Given the description of an element on the screen output the (x, y) to click on. 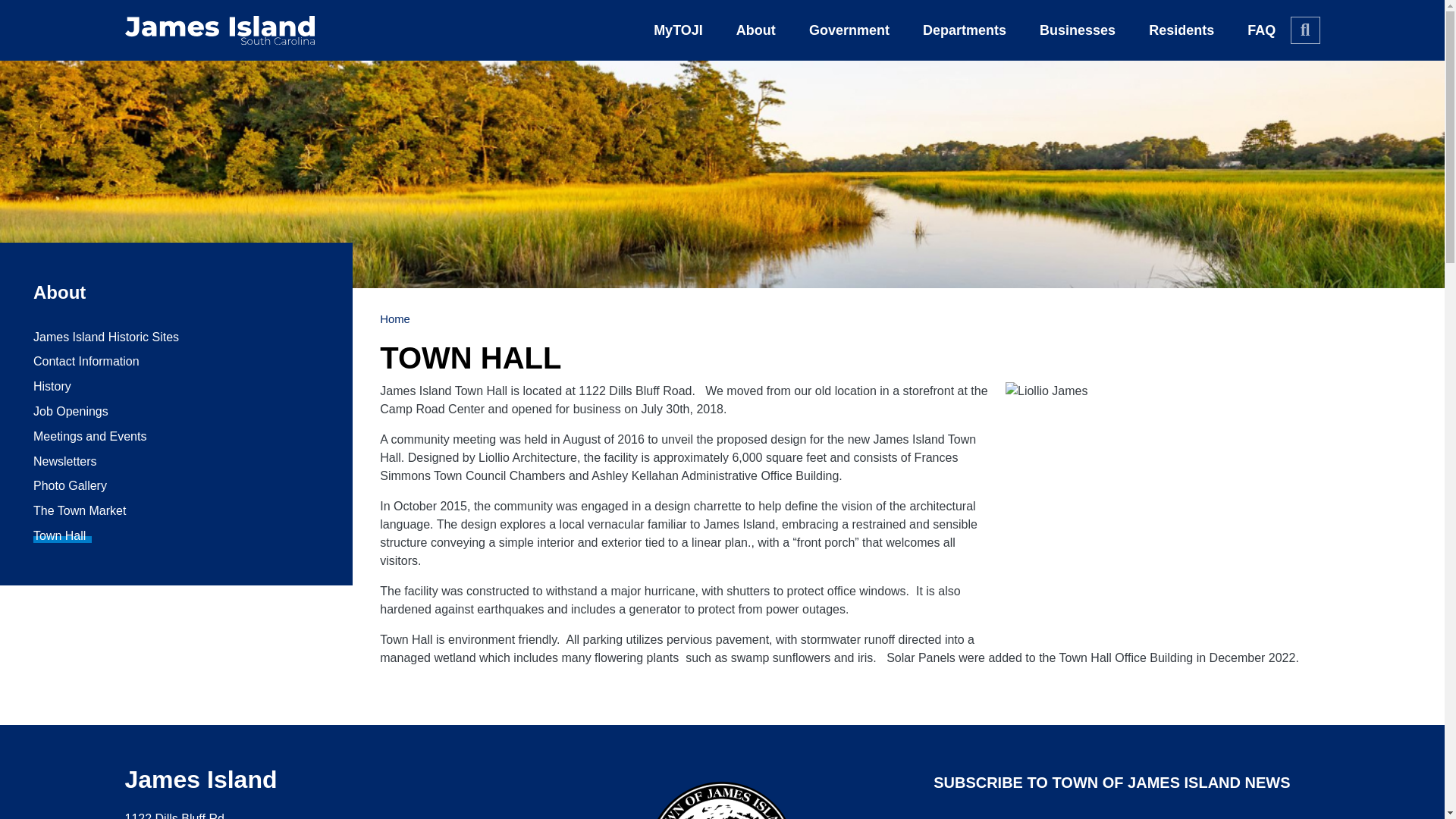
Departments (964, 29)
Government (848, 29)
Home (219, 30)
Search (1304, 30)
MyTOJI (678, 29)
